Given the description of an element on the screen output the (x, y) to click on. 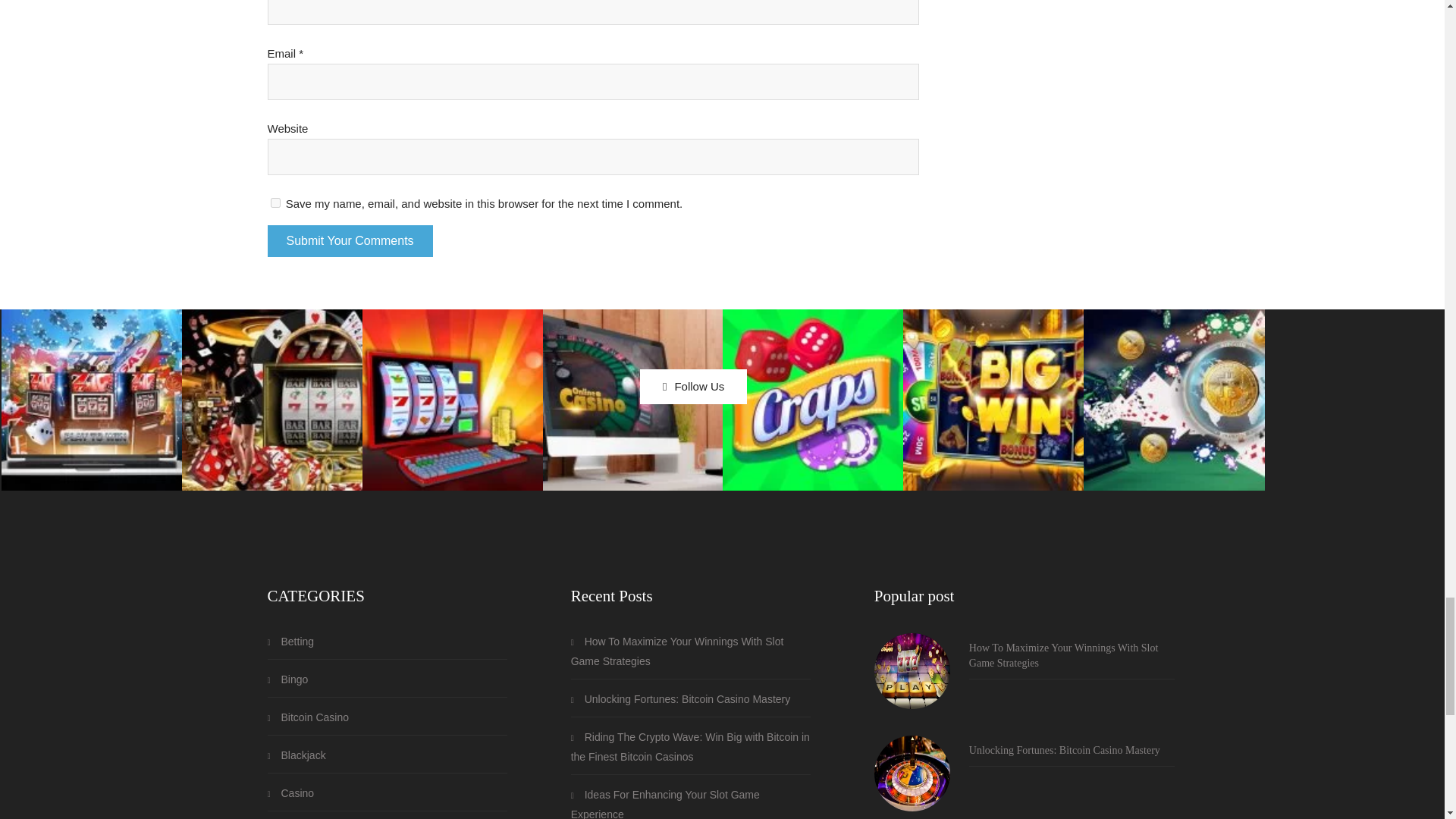
Submit Your Comments (349, 241)
Submit Your Comments (349, 241)
yes (274, 203)
